Given the description of an element on the screen output the (x, y) to click on. 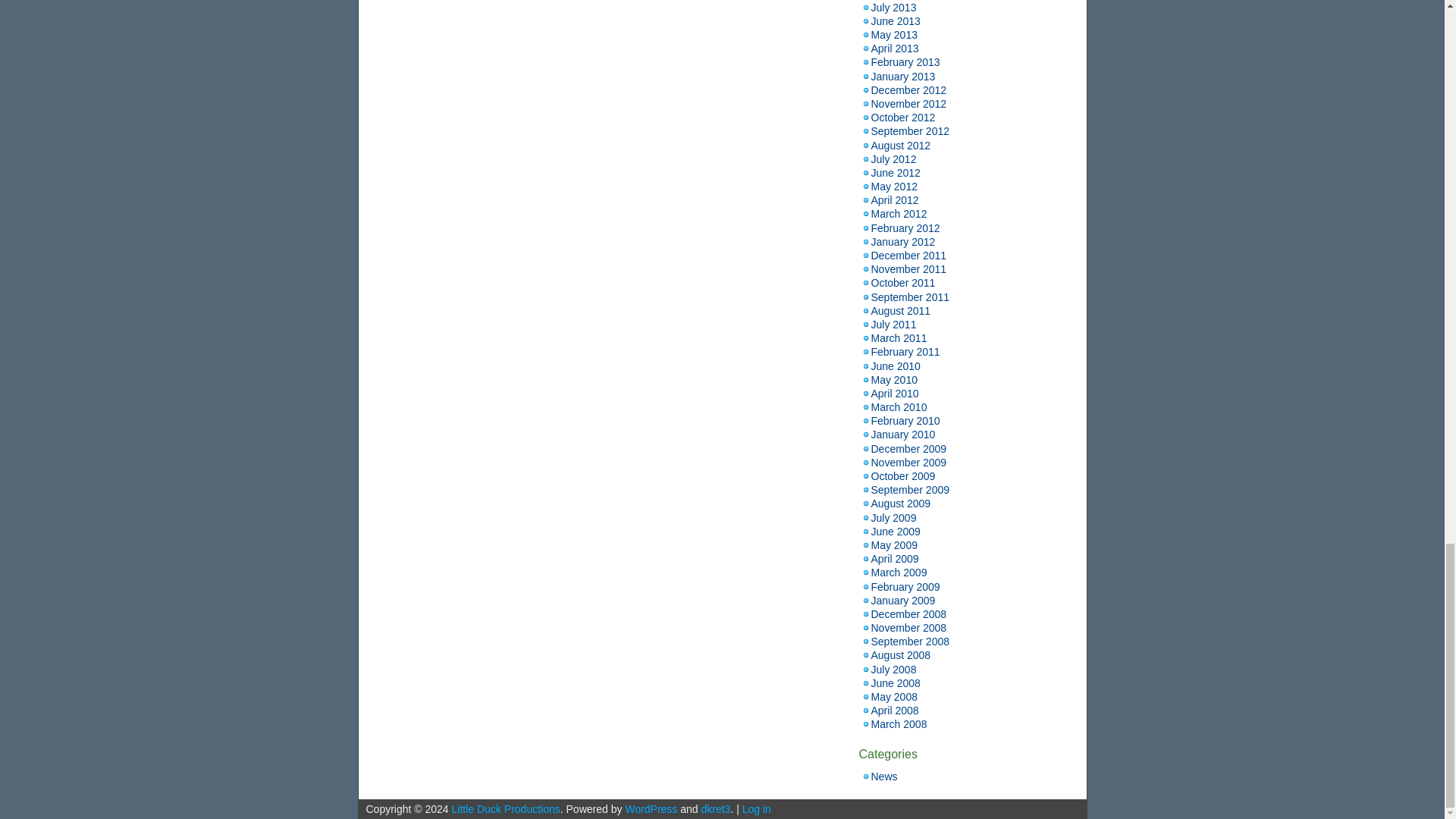
Powered by WordPress (650, 808)
Little Duck Productions (505, 808)
dkret3 4.7.1 (715, 808)
